Given the description of an element on the screen output the (x, y) to click on. 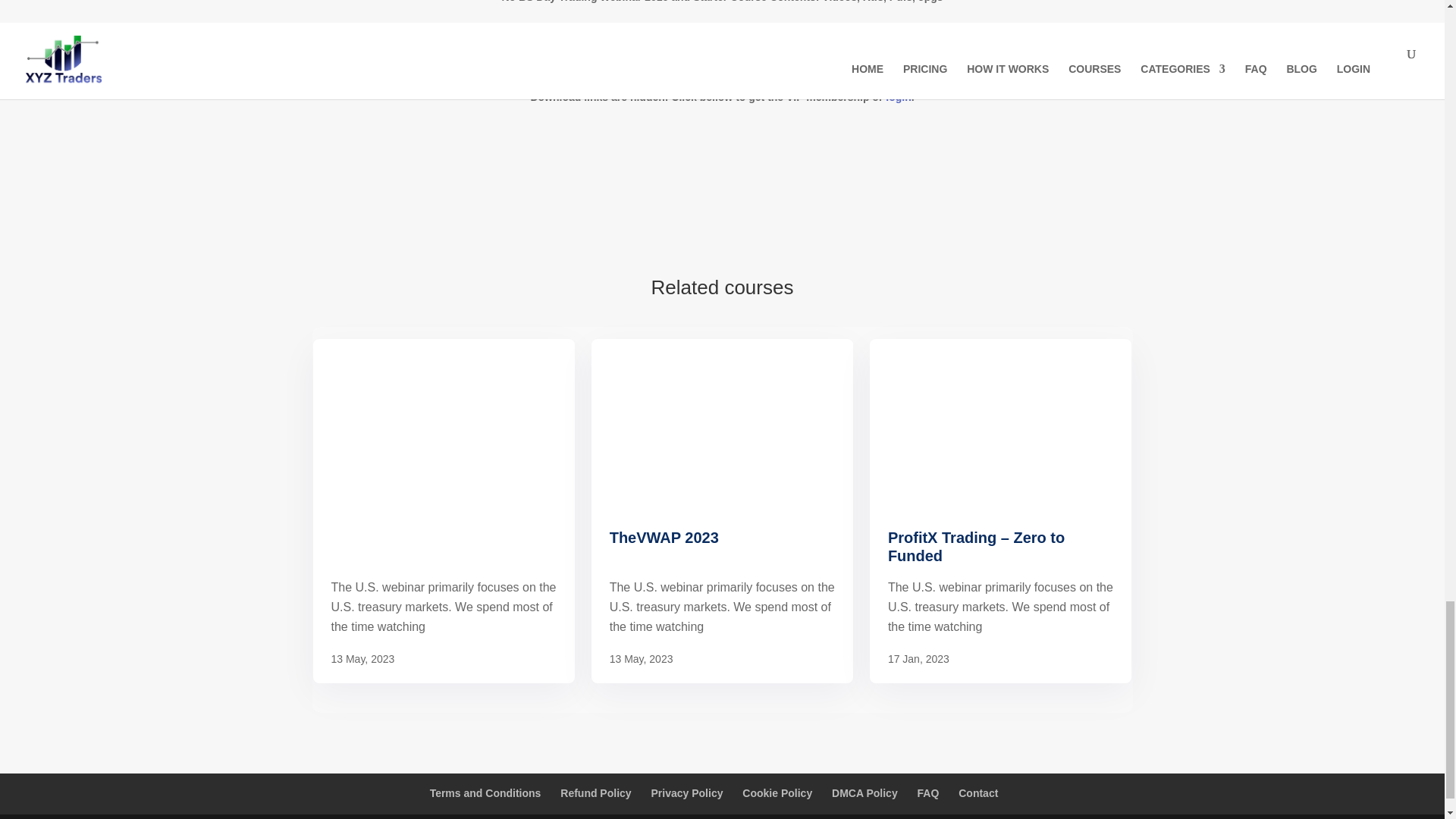
TheVWAP 2023 (722, 547)
login (898, 96)
